Given the description of an element on the screen output the (x, y) to click on. 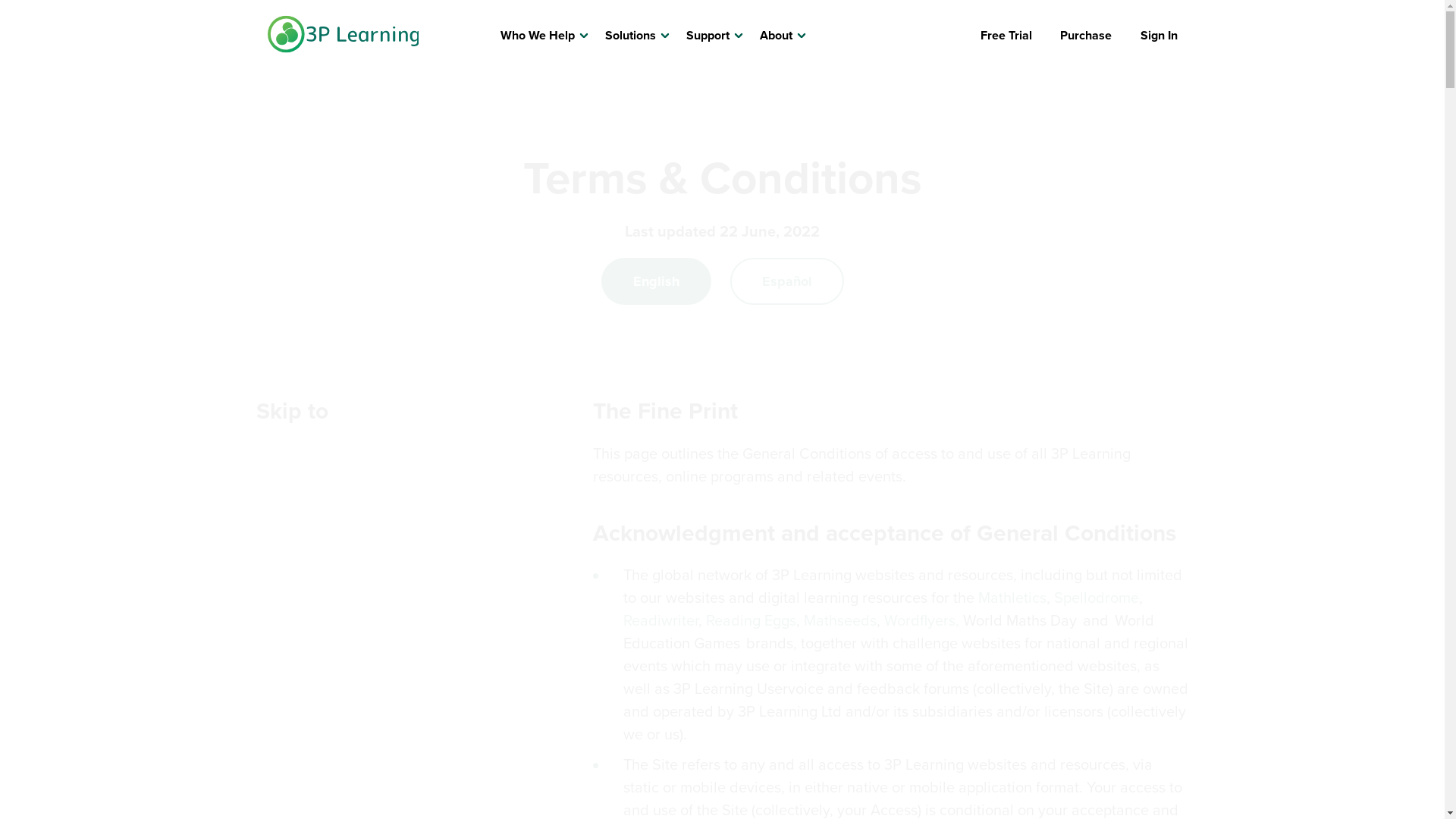
Support Element type: text (707, 35)
Reading Eggs Element type: text (751, 619)
Mathletics Element type: text (1012, 597)
English Element type: text (655, 280)
Free Trial Element type: text (1005, 35)
Mathseeds Element type: text (839, 619)
Spellodrome Element type: text (1096, 597)
Who We Help Element type: text (537, 35)
Purchase Element type: text (1085, 35)
Readiwriter Element type: text (660, 619)
Sign In Element type: text (1158, 35)
Solutions Element type: text (630, 35)
Wordflyers, Element type: text (923, 619)
About Element type: text (775, 35)
